Given the description of an element on the screen output the (x, y) to click on. 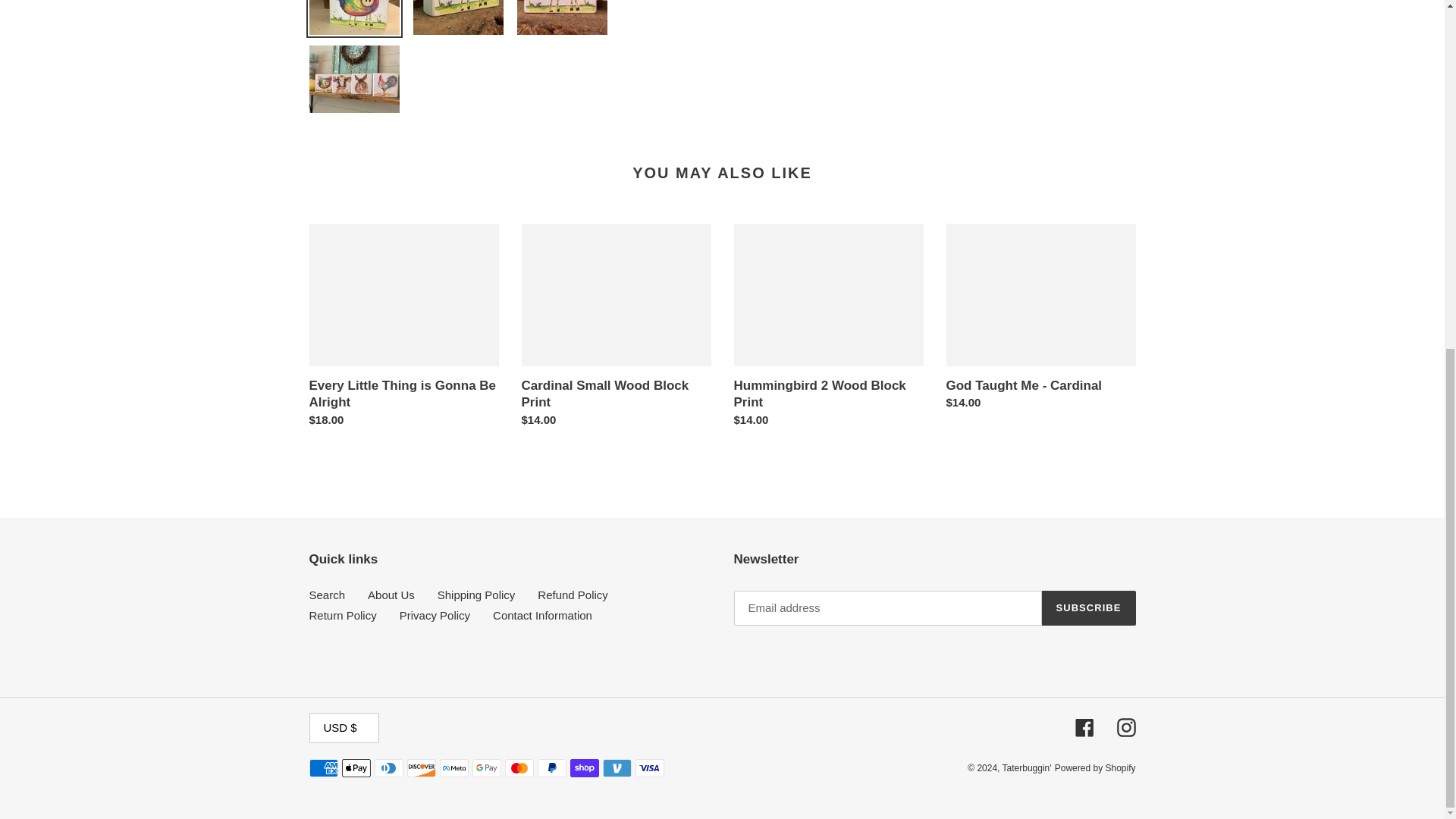
Return Policy (342, 615)
God Taught Me - Cardinal (1040, 320)
Shipping Policy (476, 594)
Privacy Policy (434, 615)
Refund Policy (572, 594)
Hummingbird 2 Wood Block Print (828, 328)
Search (327, 594)
Every Little Thing is Gonna Be Alright (403, 328)
About Us (391, 594)
Cardinal Small Wood Block Print (616, 328)
